Given the description of an element on the screen output the (x, y) to click on. 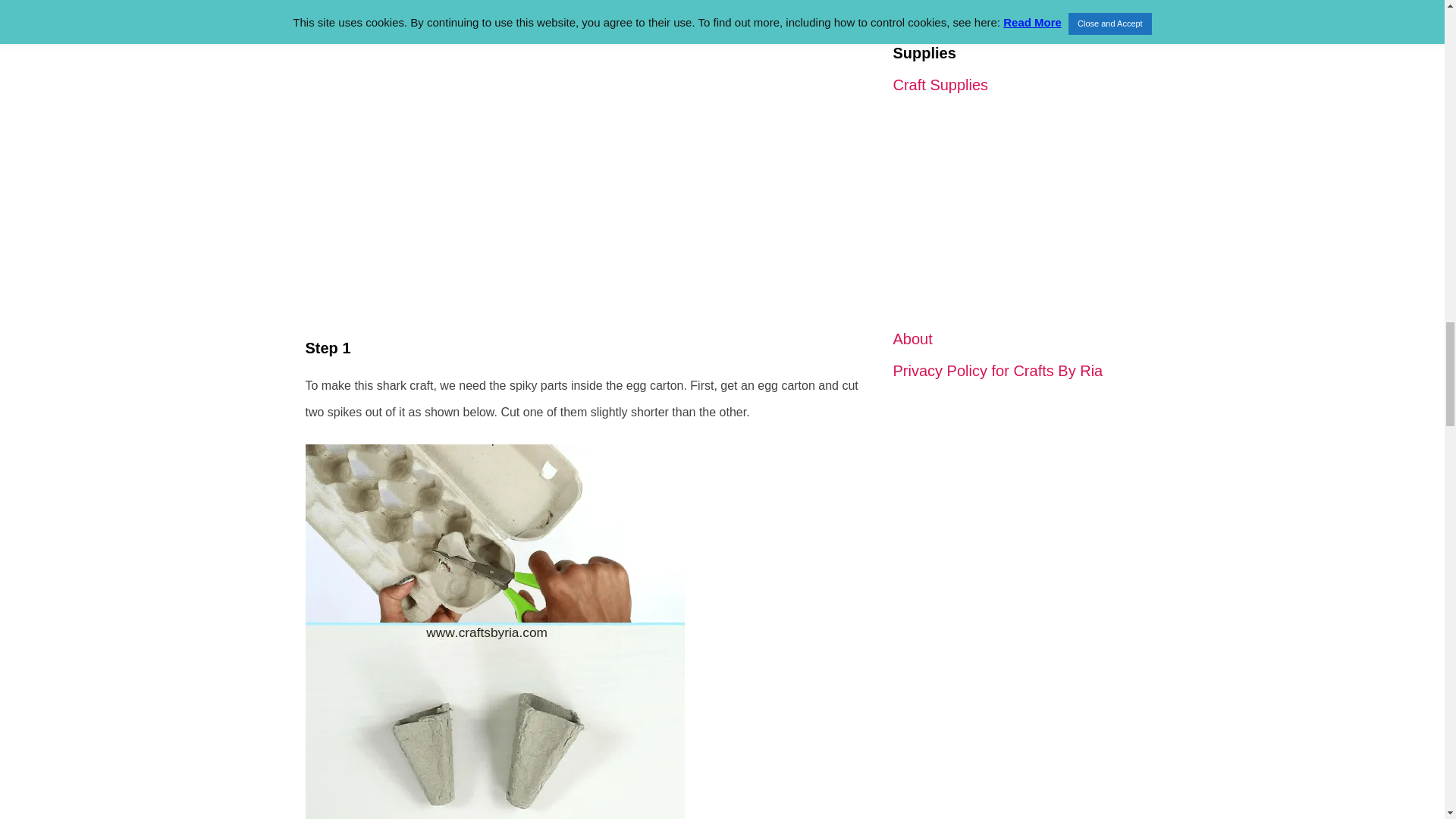
Advertisement (1013, 212)
